Given the description of an element on the screen output the (x, y) to click on. 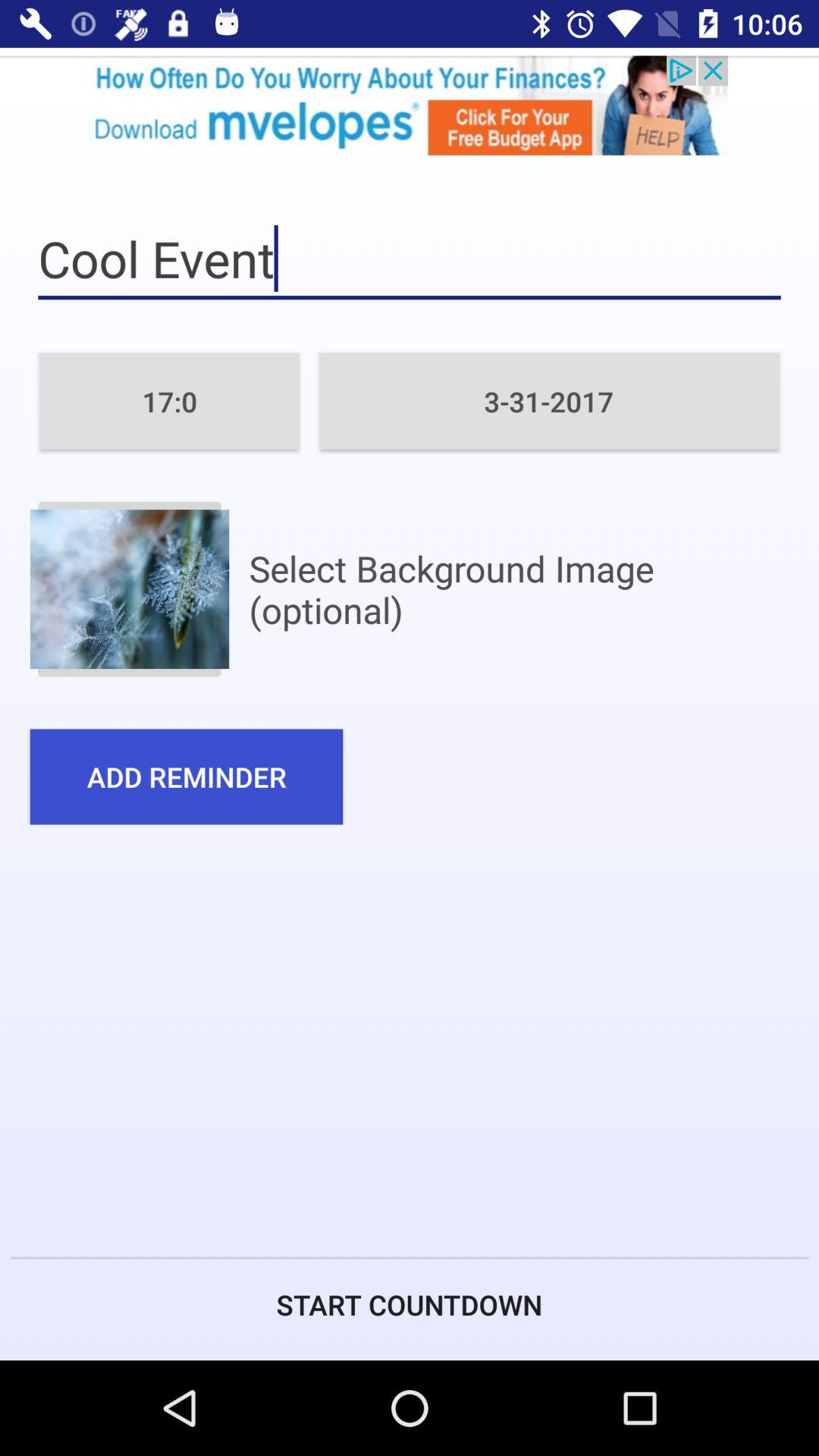
select button (129, 588)
